Given the description of an element on the screen output the (x, y) to click on. 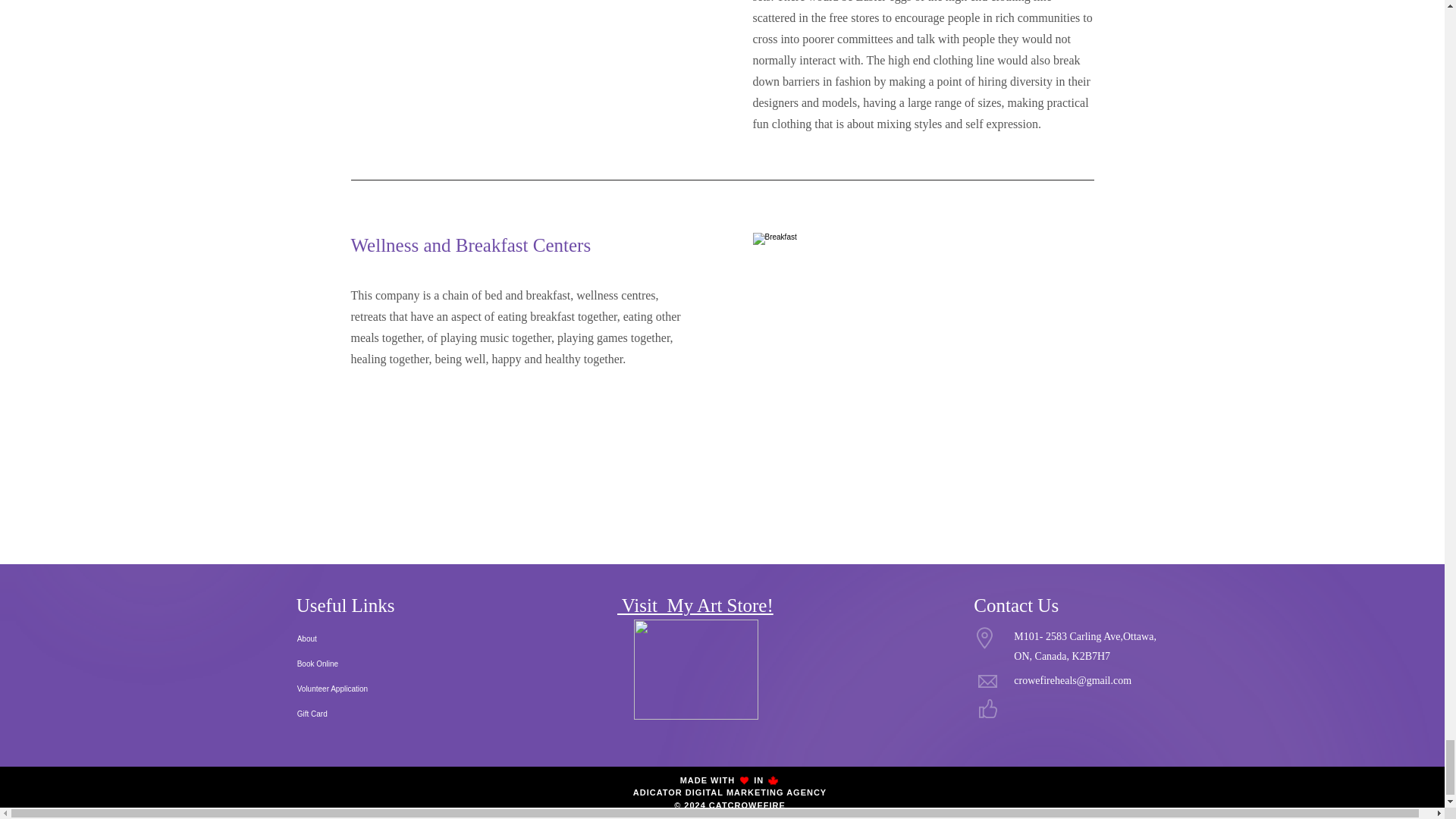
Volunteer Application (375, 688)
Gift Card (375, 713)
About (375, 637)
Book Online (375, 663)
 Visit  My Art Store! (695, 605)
